Given the description of an element on the screen output the (x, y) to click on. 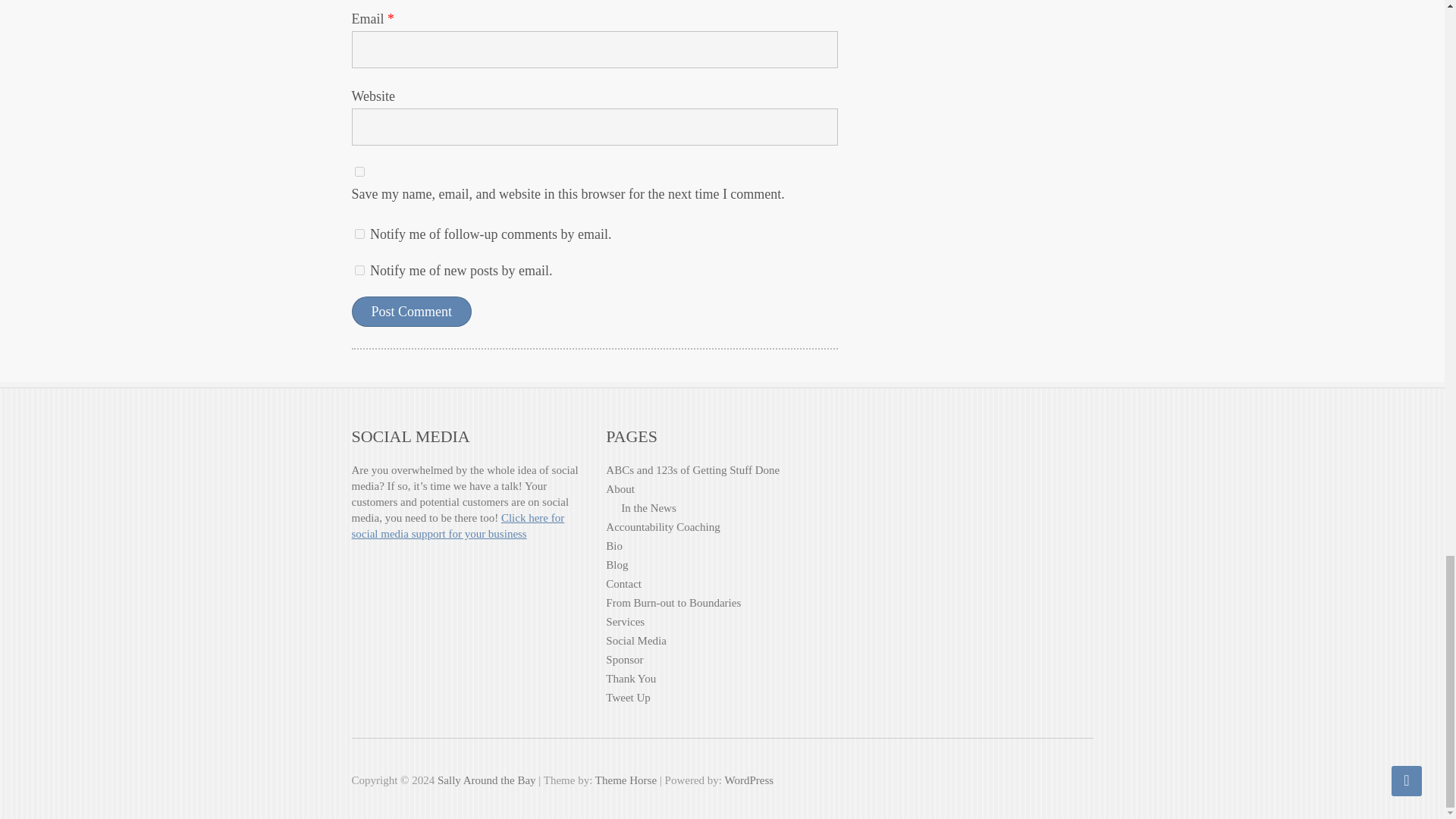
Theme Horse (625, 779)
subscribe (360, 270)
Sally Around the Bay (486, 779)
WordPress (748, 779)
Post Comment (411, 311)
Post Comment (411, 311)
subscribe (360, 234)
yes (360, 171)
